Given the description of an element on the screen output the (x, y) to click on. 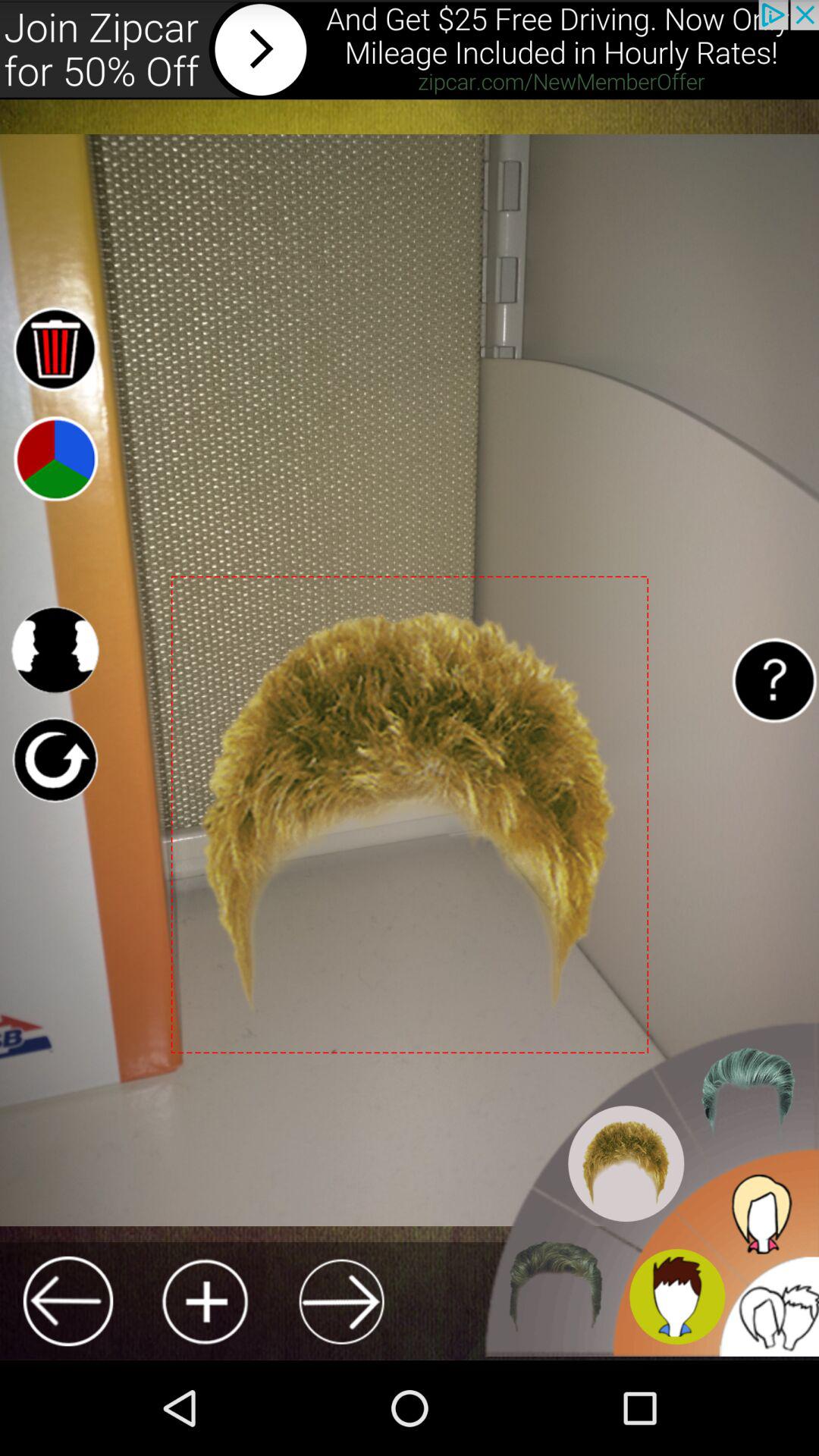
rotate item (55, 759)
